Given the description of an element on the screen output the (x, y) to click on. 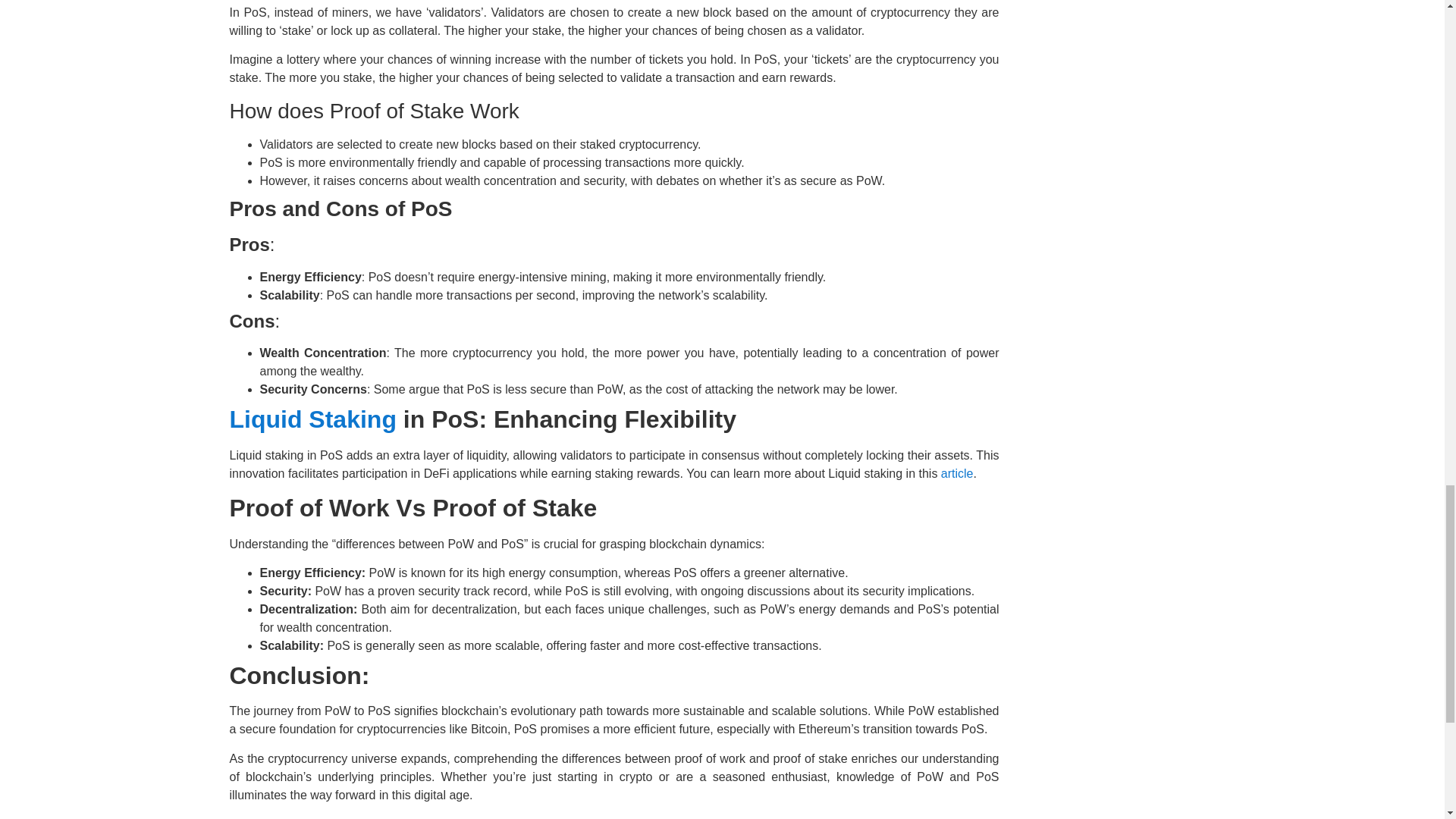
Liquid Staking (312, 419)
article (957, 472)
